Given the description of an element on the screen output the (x, y) to click on. 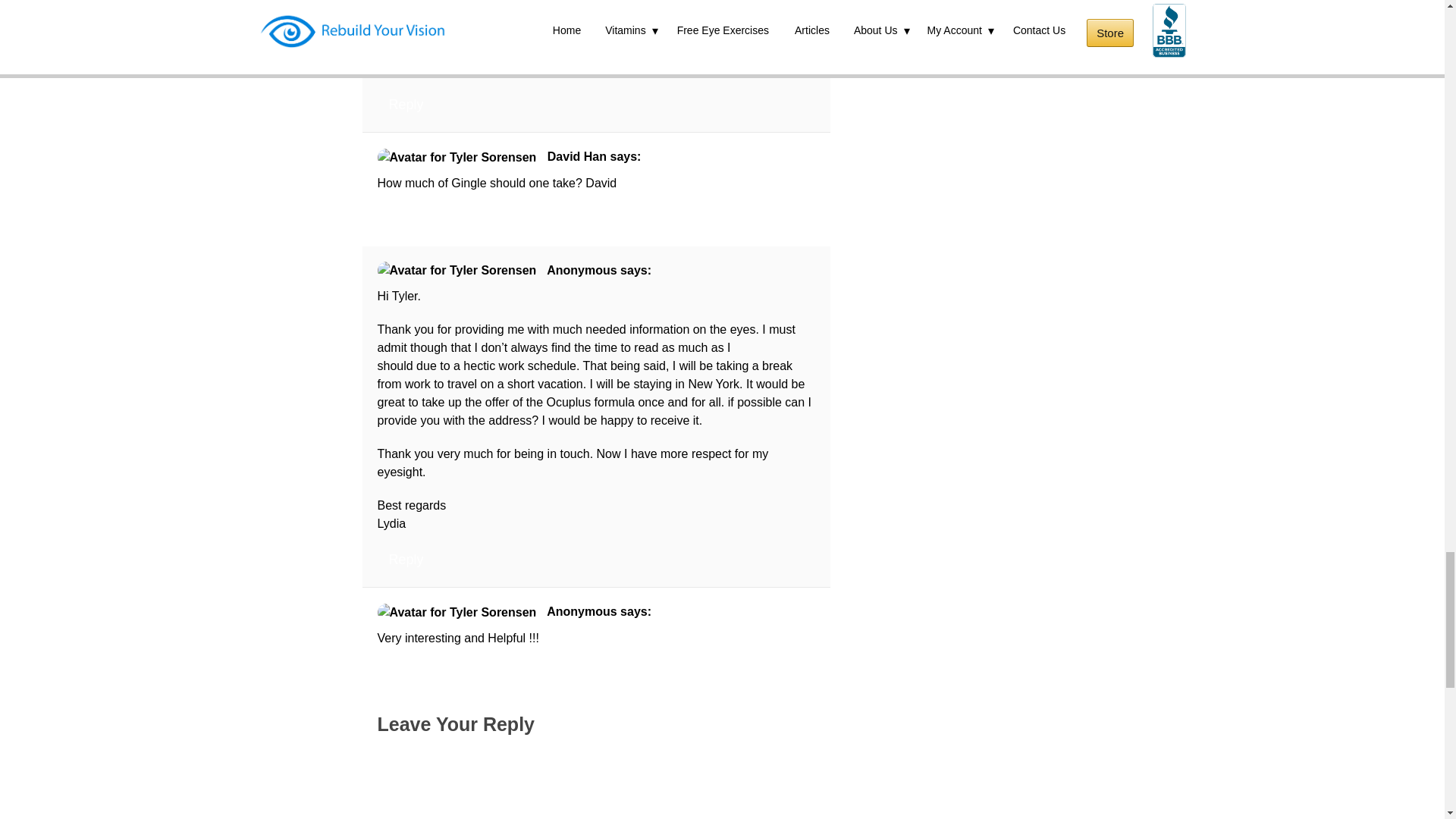
Gravatar for Tyler Sorensen (457, 157)
Comment Form (596, 786)
Gravatar for Tyler Sorensen (457, 612)
Gravatar for Tyler Sorensen (457, 270)
Gravatar for Tyler Sorensen (457, 7)
